Given the description of an element on the screen output the (x, y) to click on. 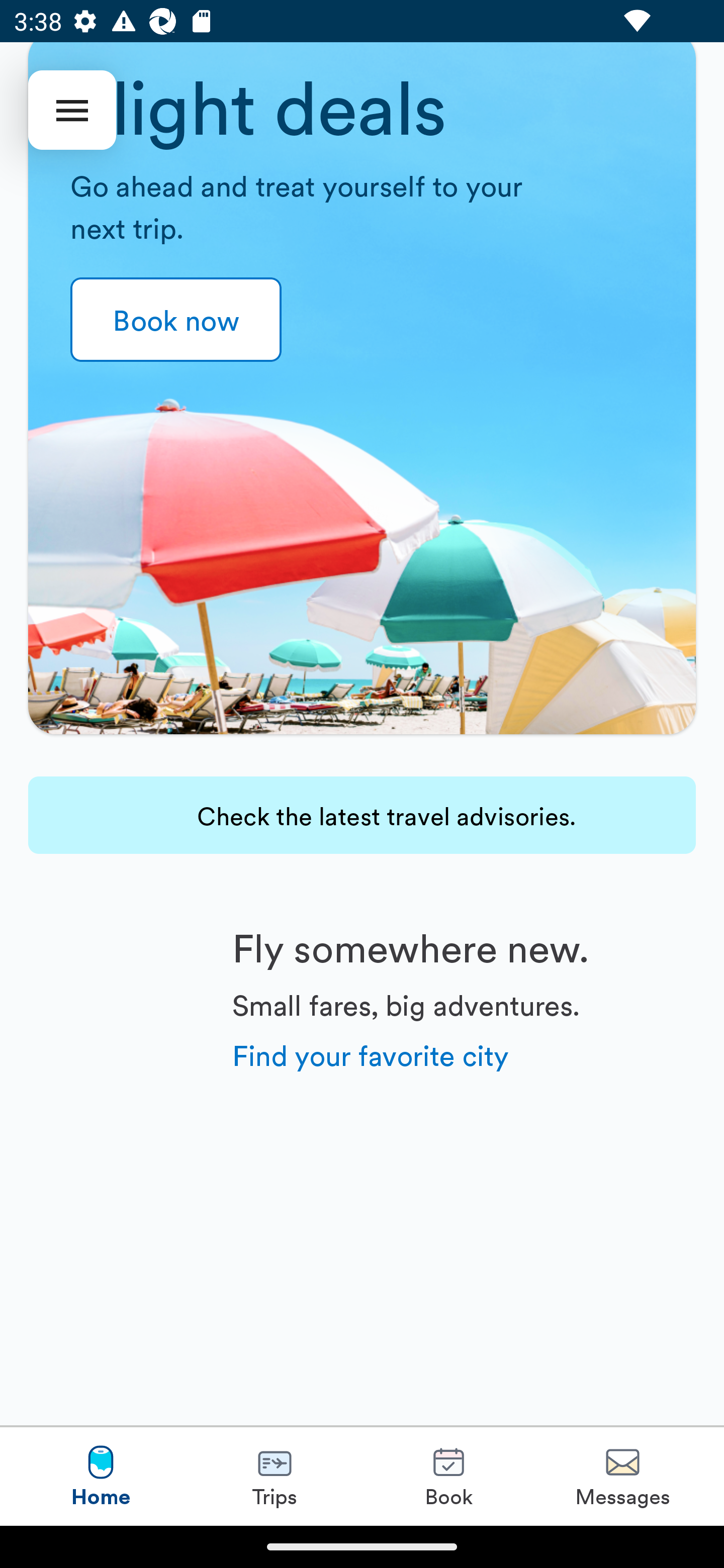
Book now (175, 319)
Check the latest travel advisories. (361, 815)
Find your favorite city (370, 1054)
Home (100, 1475)
Trips (275, 1475)
Book (448, 1475)
Messages (622, 1475)
